Given the description of an element on the screen output the (x, y) to click on. 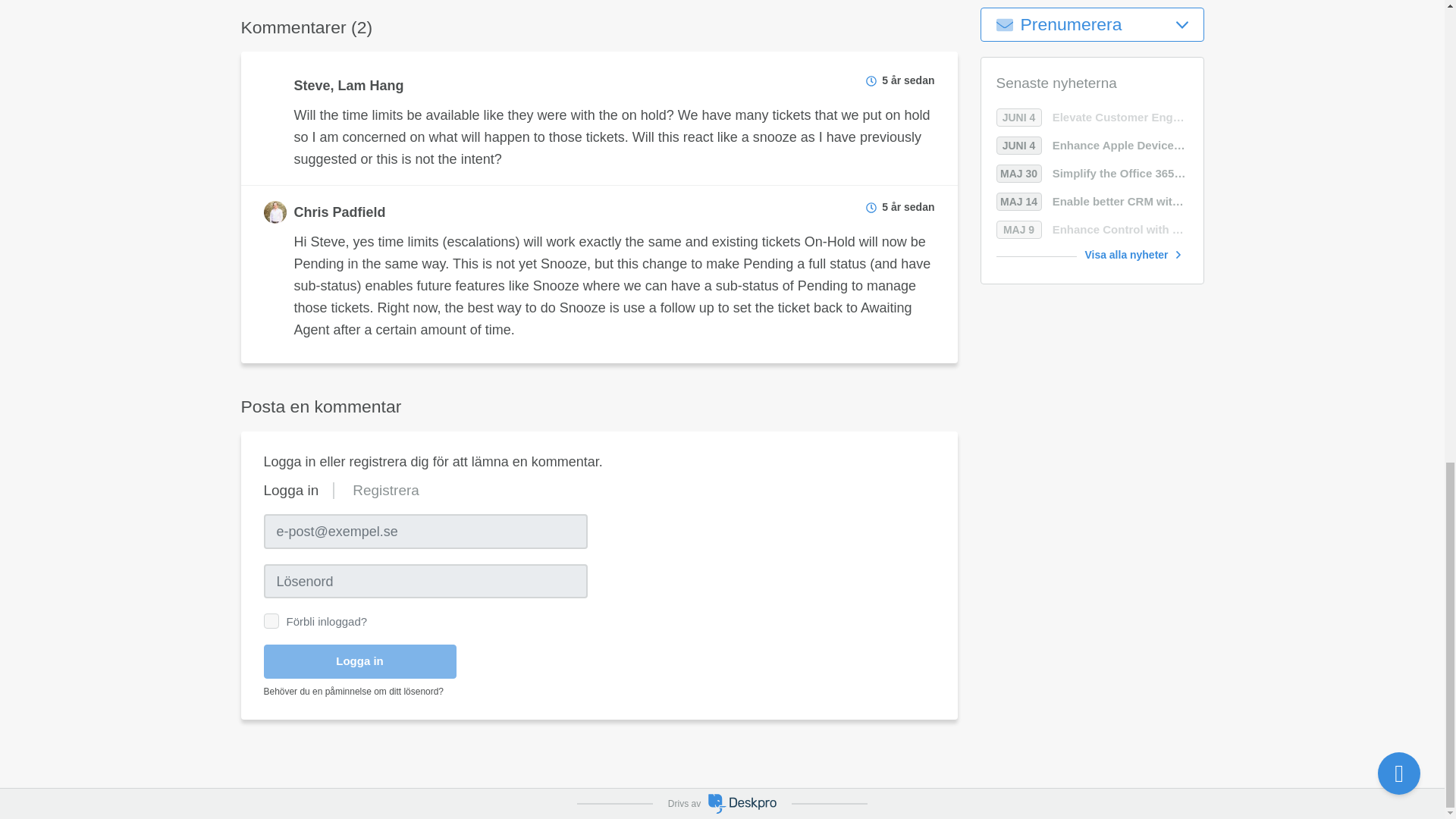
Ons, 13th Mar 2019 10:31 am (908, 206)
Ons, 13th Mar 2019 2:00 am (908, 80)
